Given the description of an element on the screen output the (x, y) to click on. 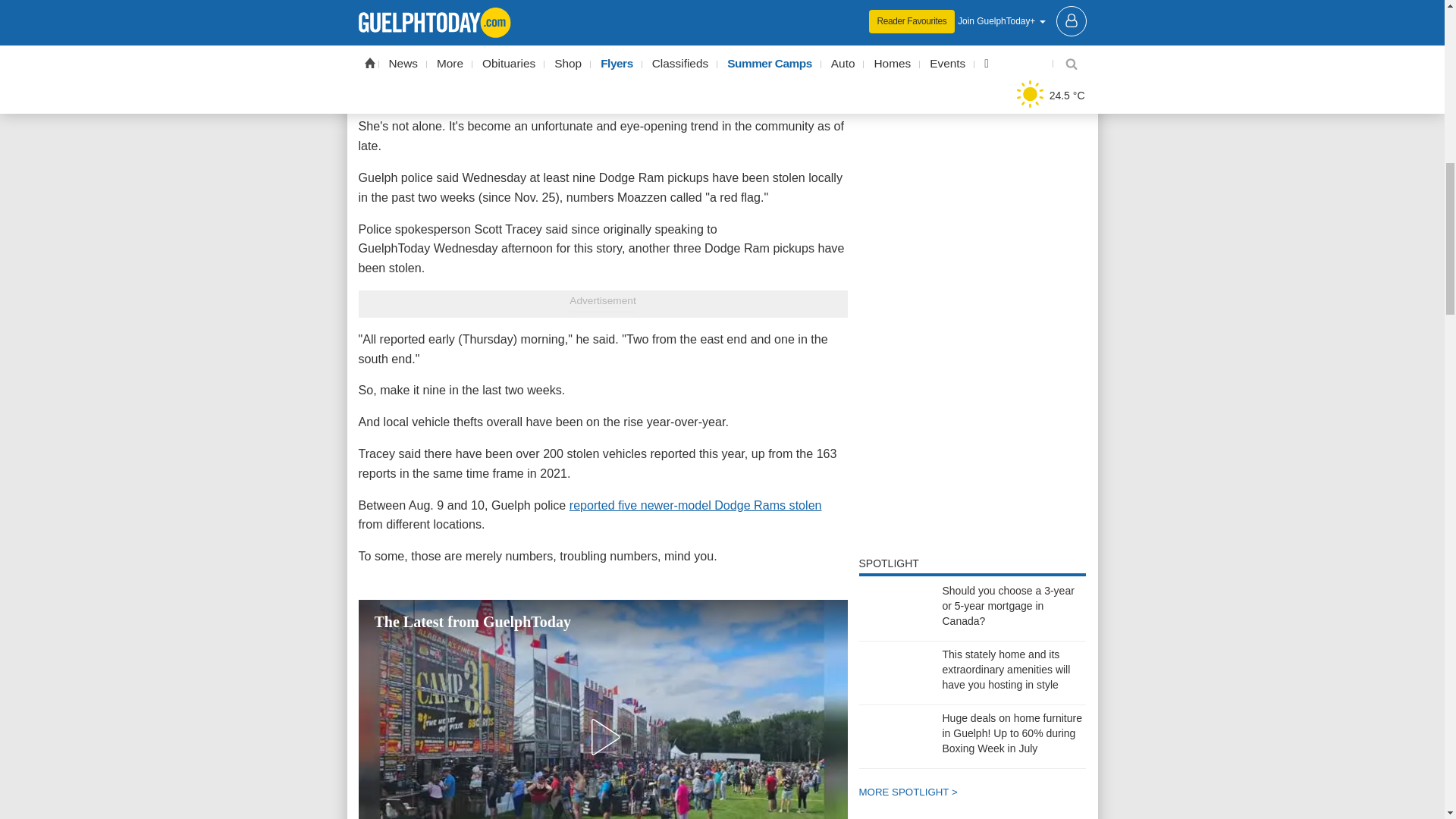
3rd party ad content (972, 497)
3rd party ad content (972, 341)
3rd party ad content (972, 13)
3rd party ad content (972, 136)
